Given the description of an element on the screen output the (x, y) to click on. 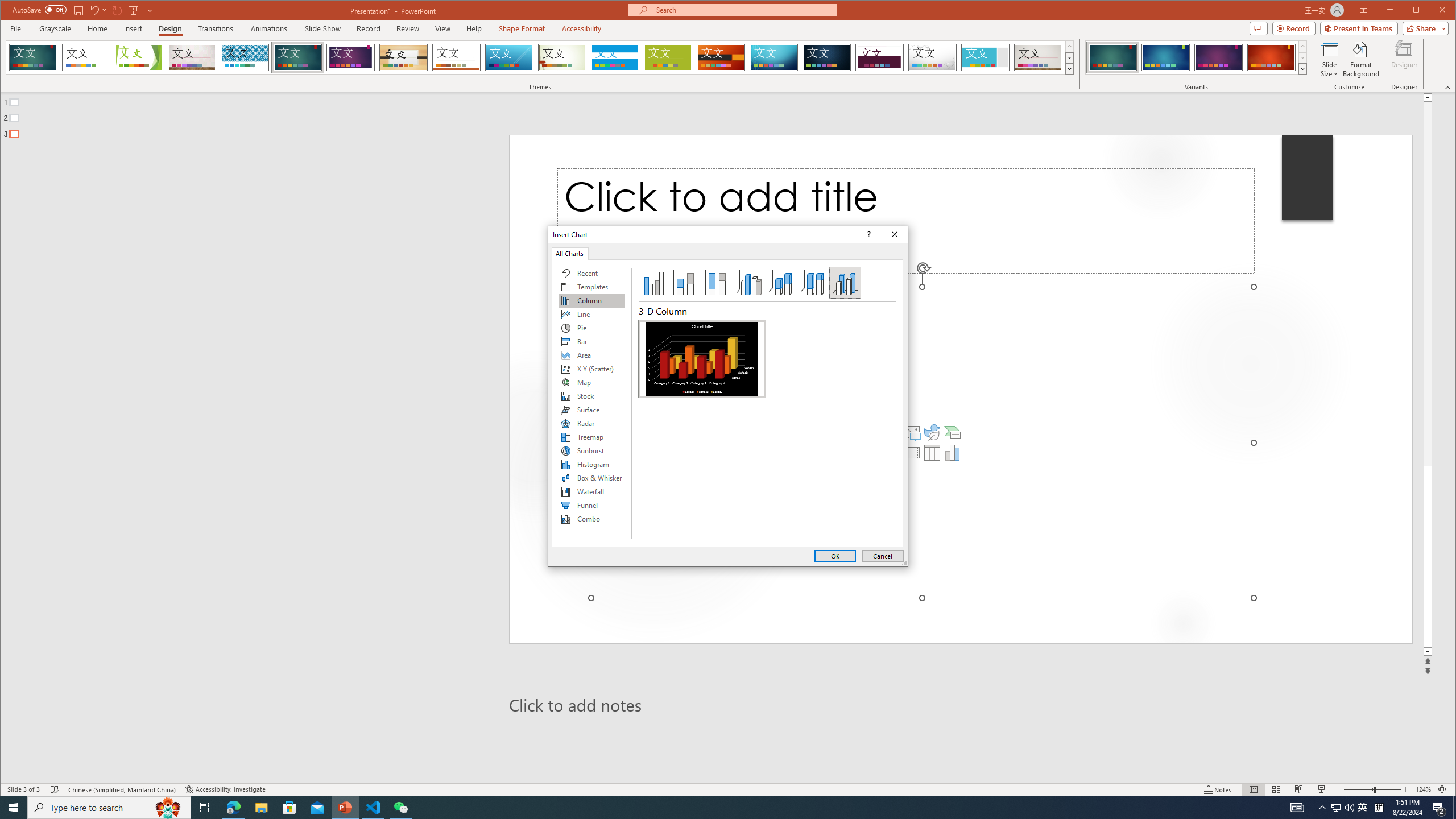
Surface (591, 409)
Ion Variant 4 (1270, 57)
Sunburst (591, 450)
Combo (591, 518)
X Y (Scatter) (591, 368)
Radar (591, 423)
